Given the description of an element on the screen output the (x, y) to click on. 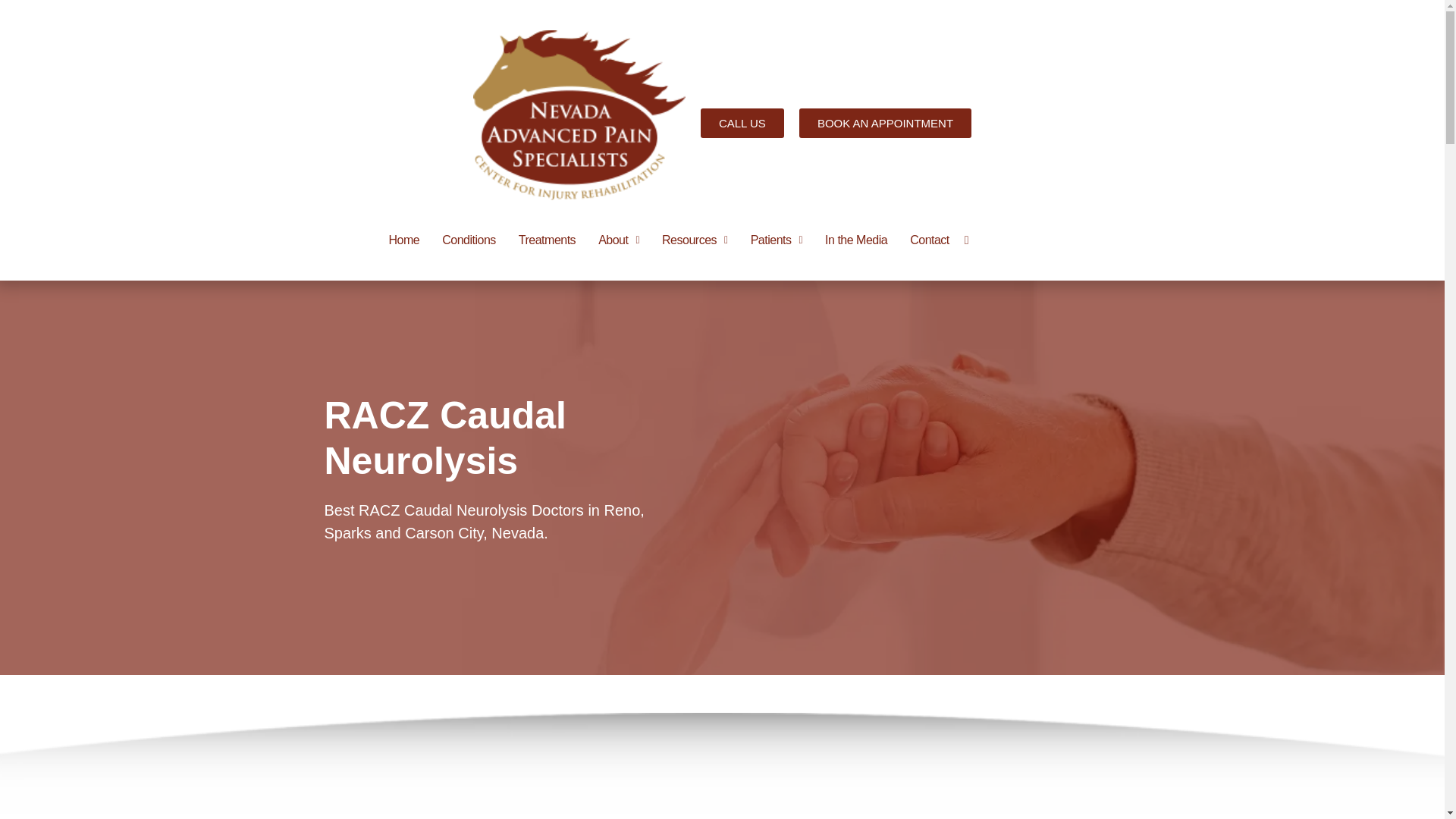
Resources (694, 239)
CALL US (742, 122)
About (618, 239)
In the Media (855, 239)
BOOK AN APPOINTMENT (885, 122)
Contact (929, 239)
Home (403, 239)
Conditions (468, 239)
Patients (776, 239)
Treatments (546, 239)
